Given the description of an element on the screen output the (x, y) to click on. 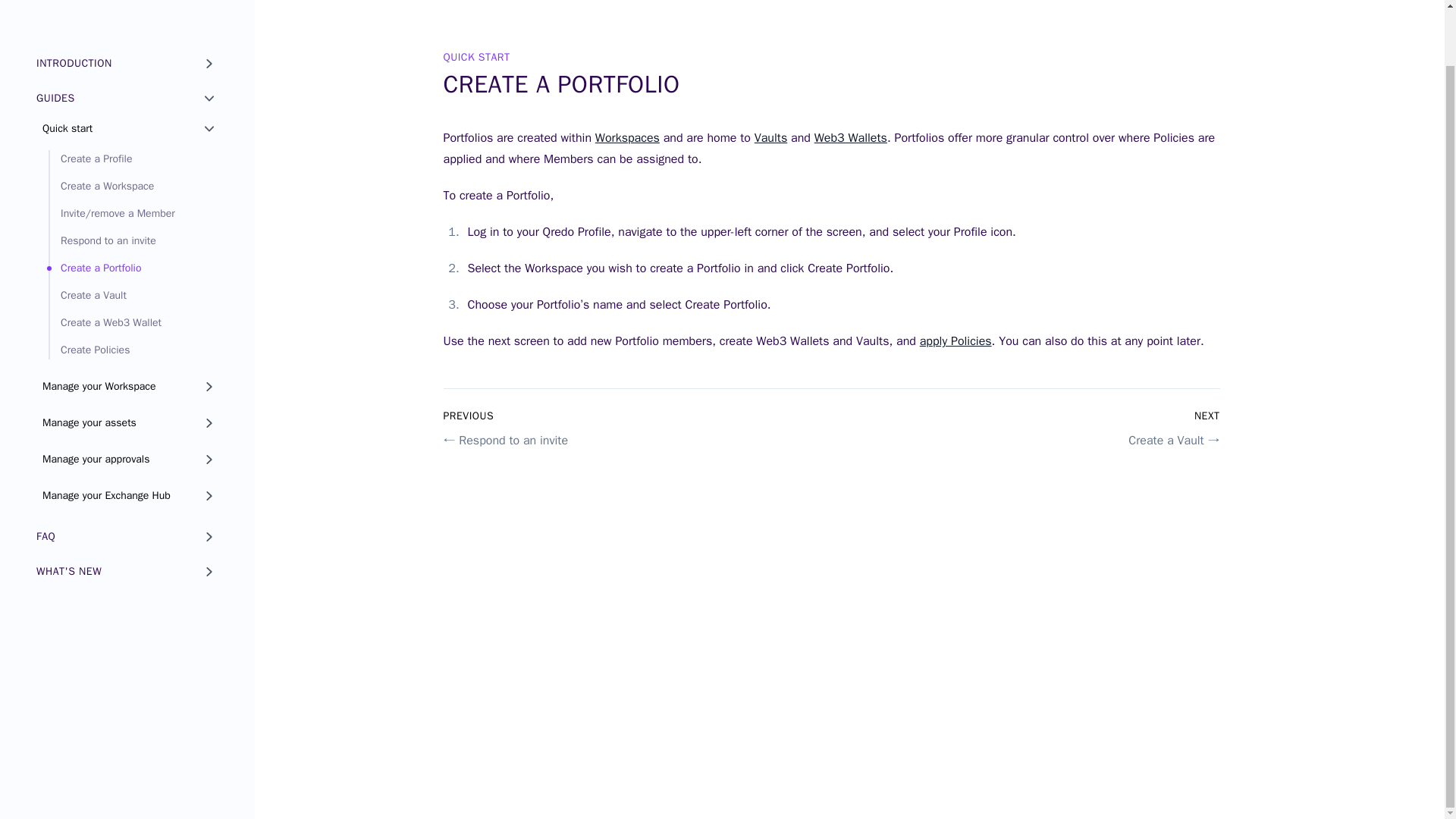
Create Policies (133, 350)
Create a Workspace (133, 186)
Create a Portfolio (133, 268)
Quick start (130, 128)
GUIDES (127, 98)
Create a Web3 Wallet (133, 322)
INTRODUCTION (127, 63)
Manage your Workspace (130, 386)
Respond to an invite (133, 240)
Create a Vault (133, 295)
Create a Profile (133, 158)
